Given the description of an element on the screen output the (x, y) to click on. 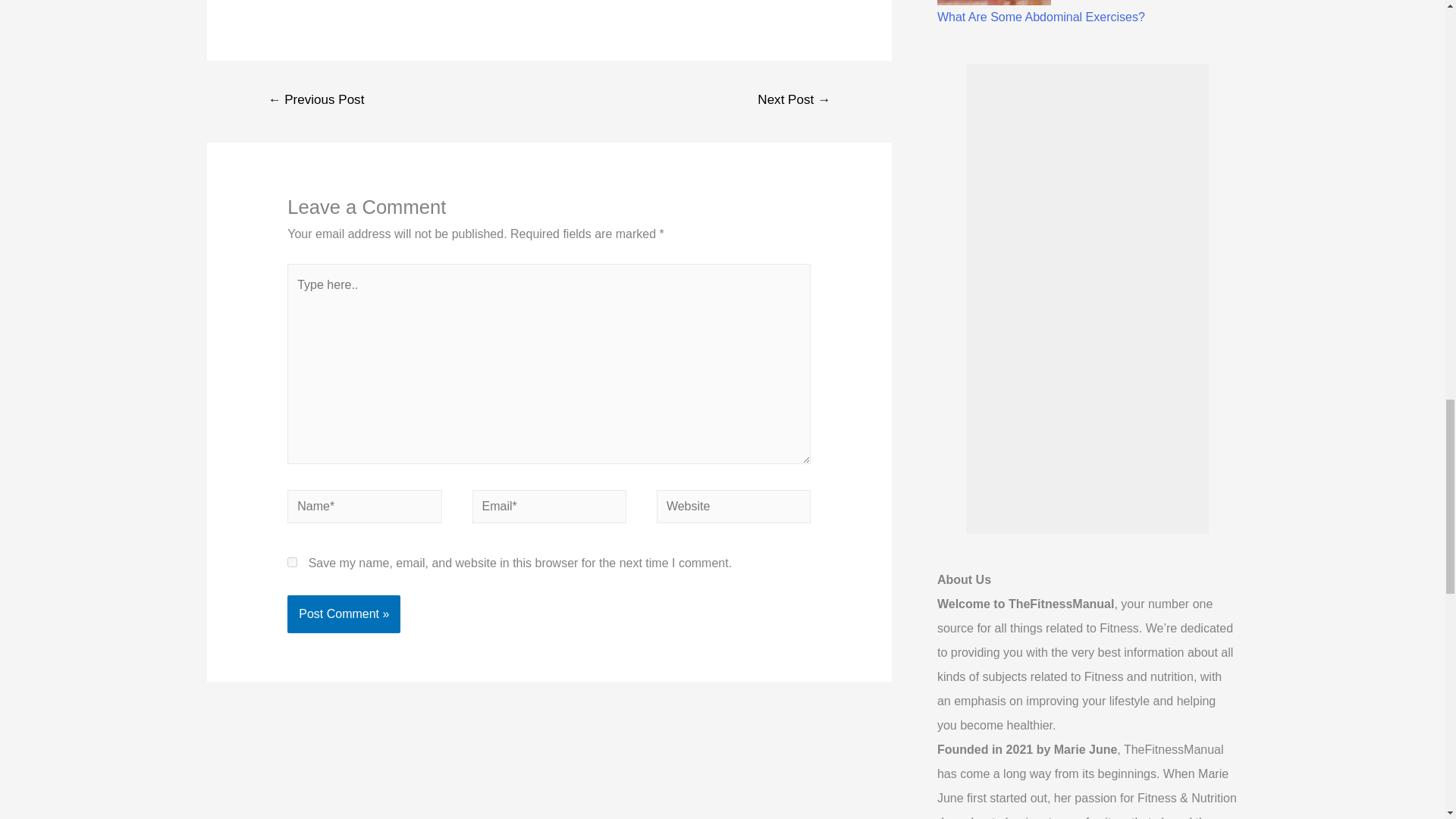
yes (291, 562)
What Are Some Abdominal Exercises? 7 (994, 2)
